Given the description of an element on the screen output the (x, y) to click on. 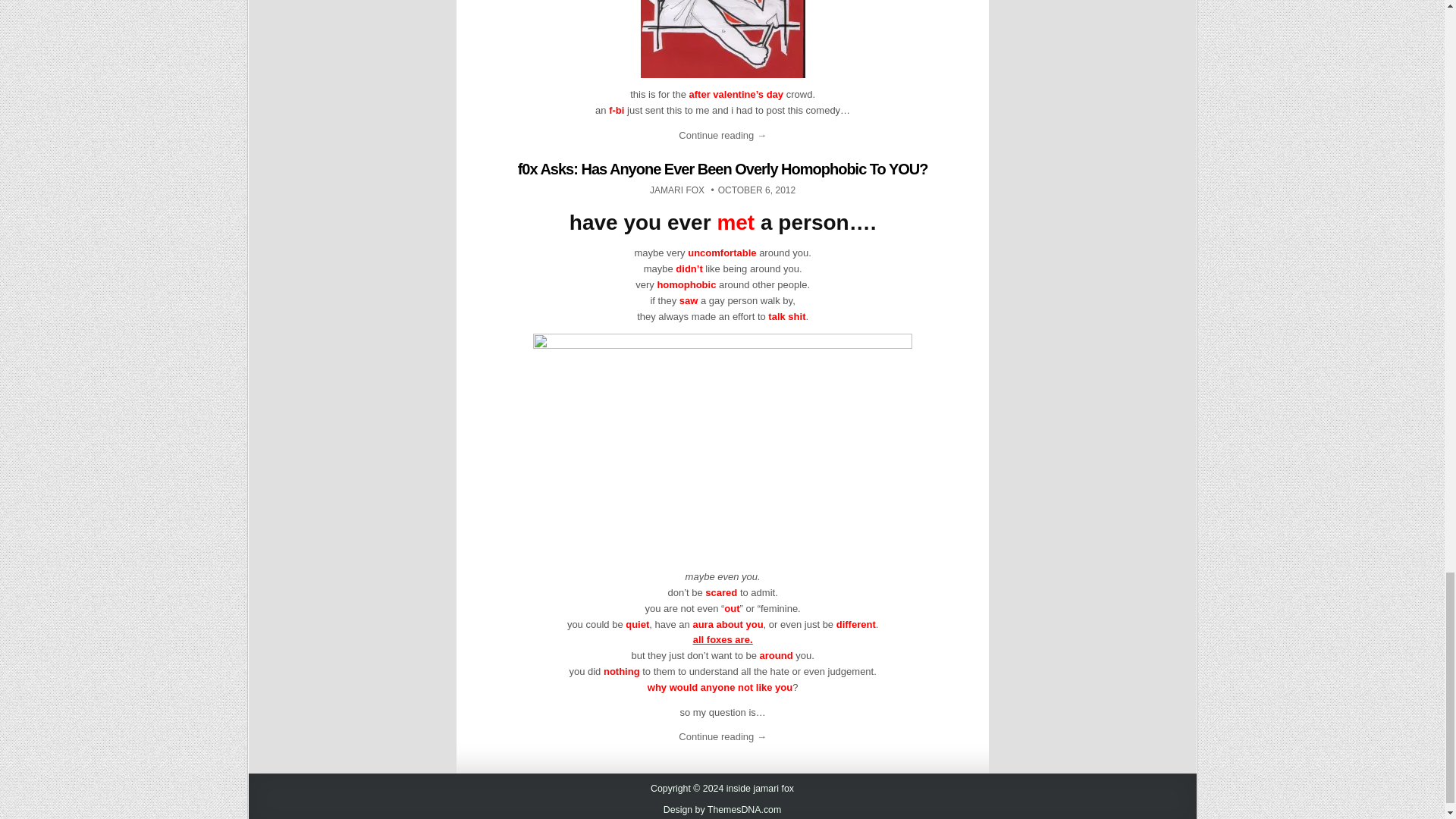
f0x Asks: Has Anyone Ever Been Overly Homophobic To YOU? (676, 189)
